Given the description of an element on the screen output the (x, y) to click on. 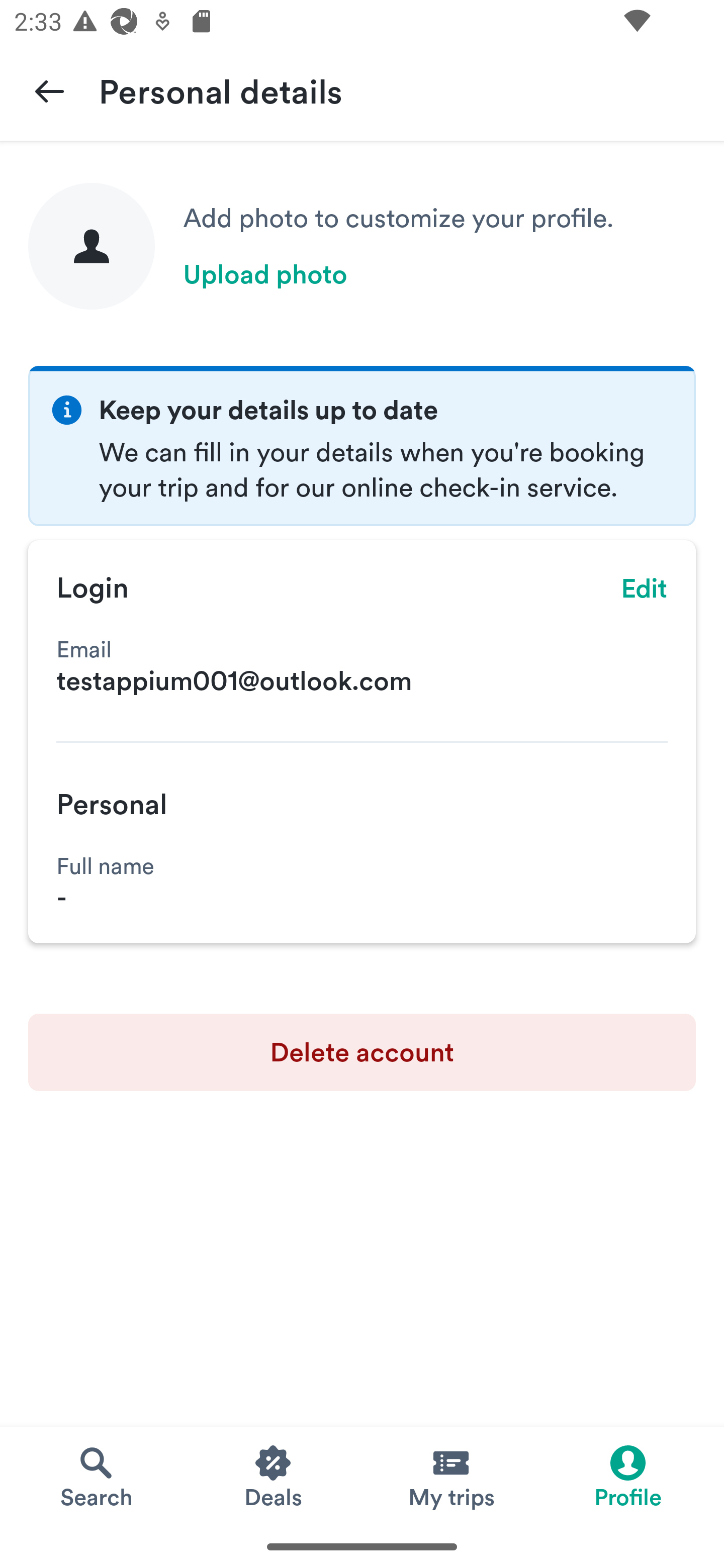
Navigate up (49, 90)
profile picture (91, 245)
Upload photo (265, 274)
Edit (644, 587)
Delete account (361, 1051)
Search (95, 1475)
Deals (273, 1475)
My trips (450, 1475)
